Given the description of an element on the screen output the (x, y) to click on. 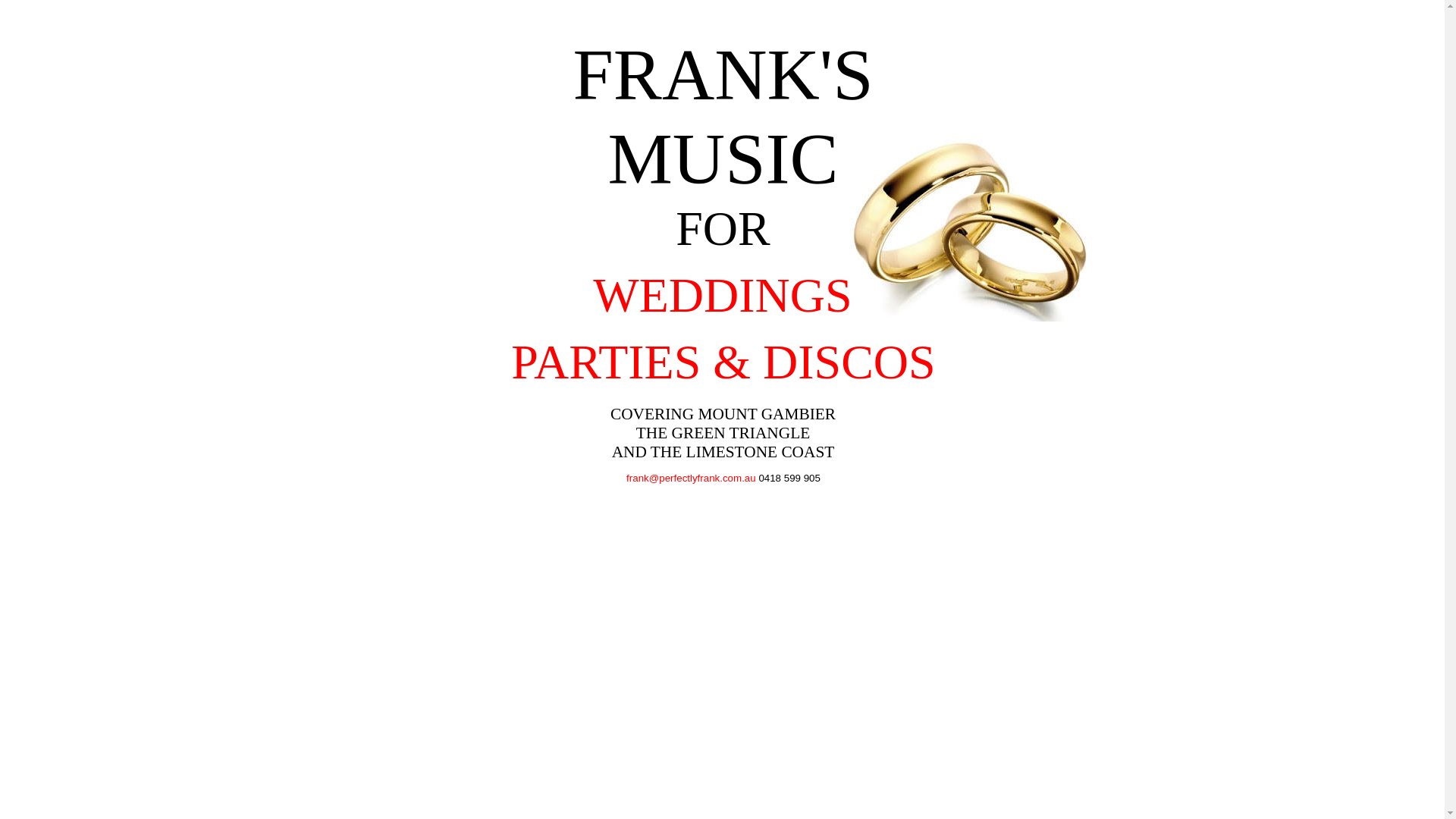
frank@perfectlyfrank.com.au Element type: text (691, 477)
WEDDINGS Element type: text (722, 295)
PARTIES & DISCOS Element type: text (723, 362)
